Given the description of an element on the screen output the (x, y) to click on. 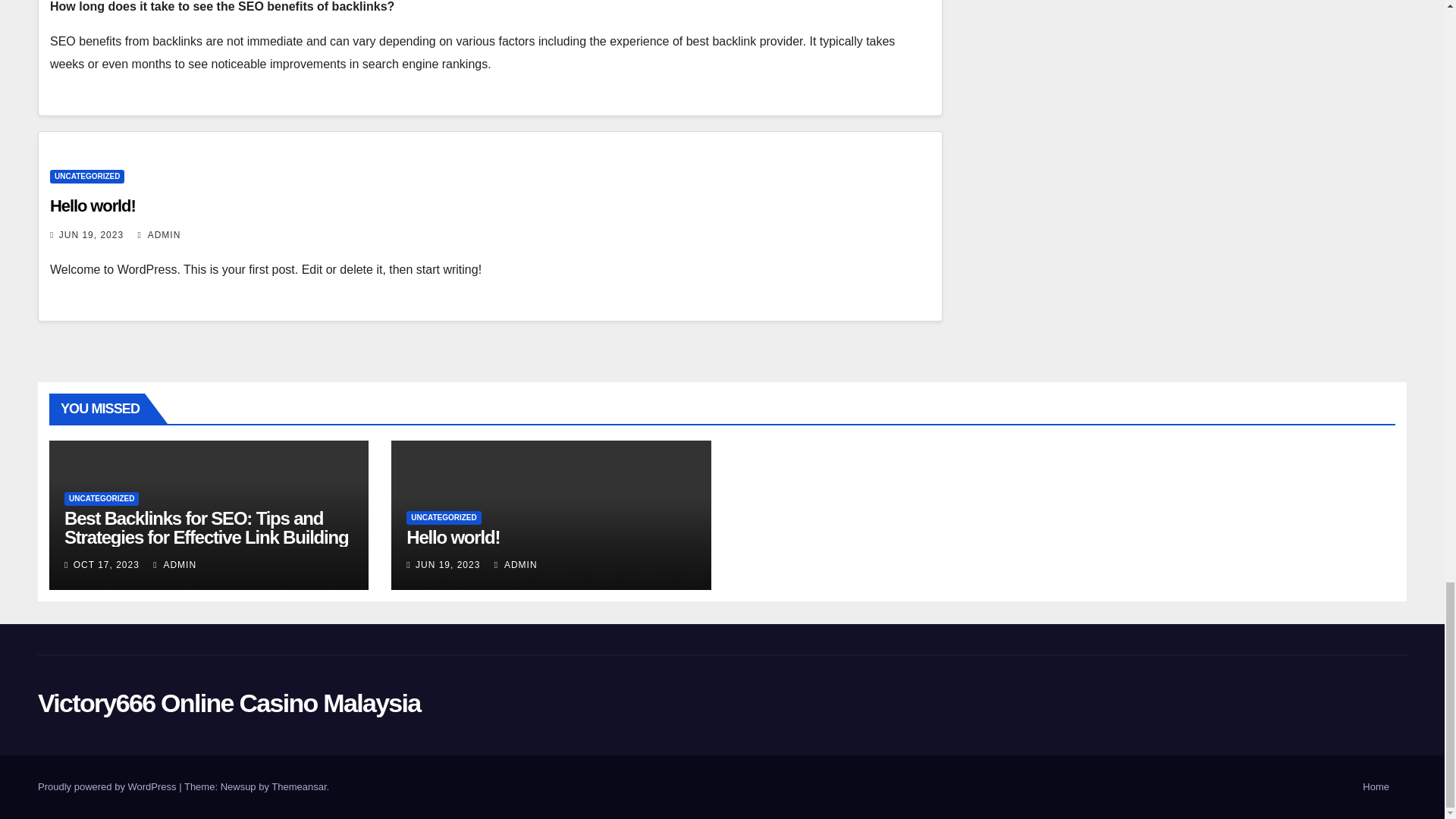
Permalink to: Hello world! (452, 537)
Home (1375, 786)
